Given the description of an element on the screen output the (x, y) to click on. 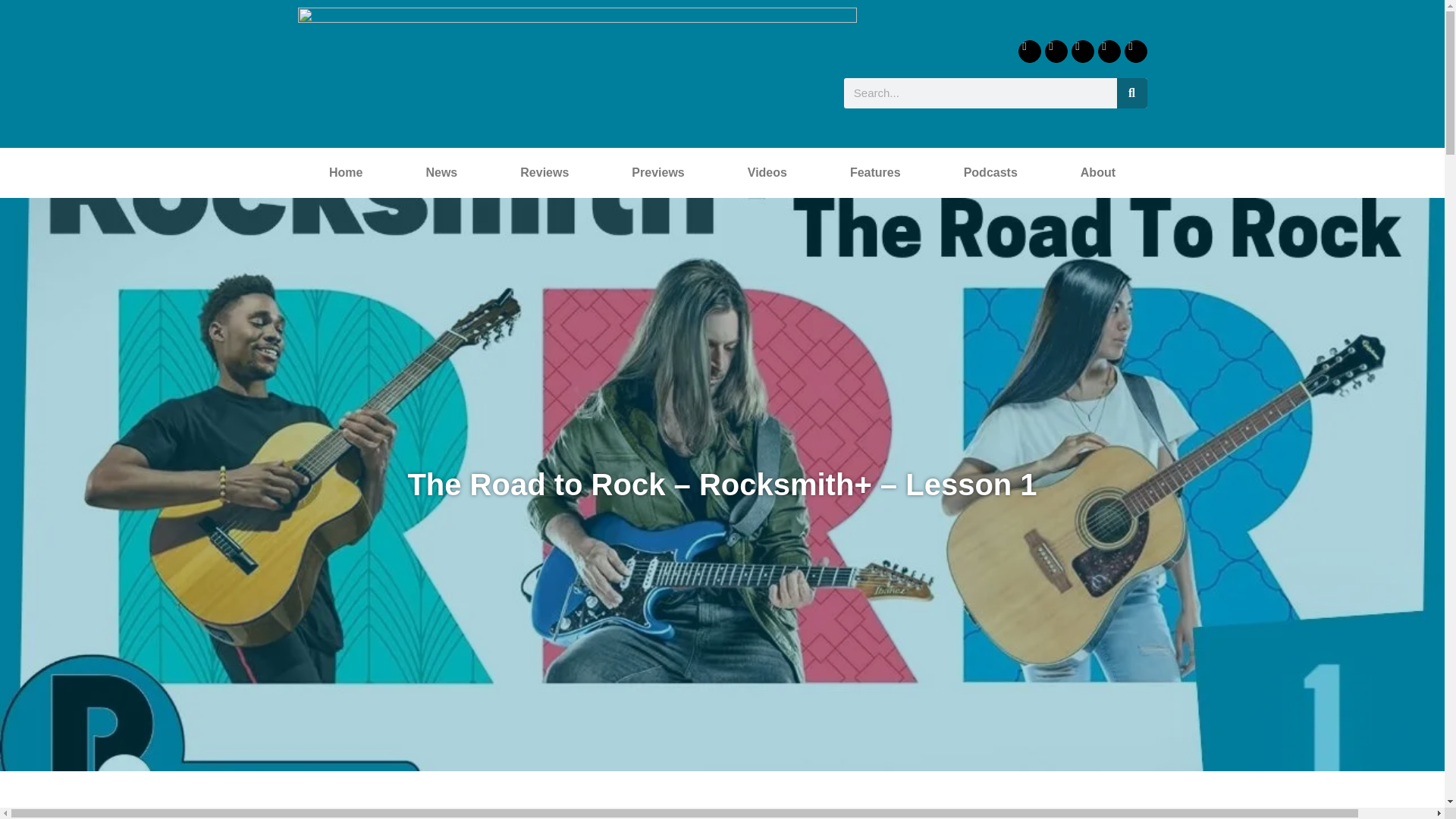
Videos (767, 172)
News (441, 172)
Home (345, 172)
About (1097, 172)
Podcasts (989, 172)
Previews (657, 172)
Features (874, 172)
Reviews (544, 172)
